Given the description of an element on the screen output the (x, y) to click on. 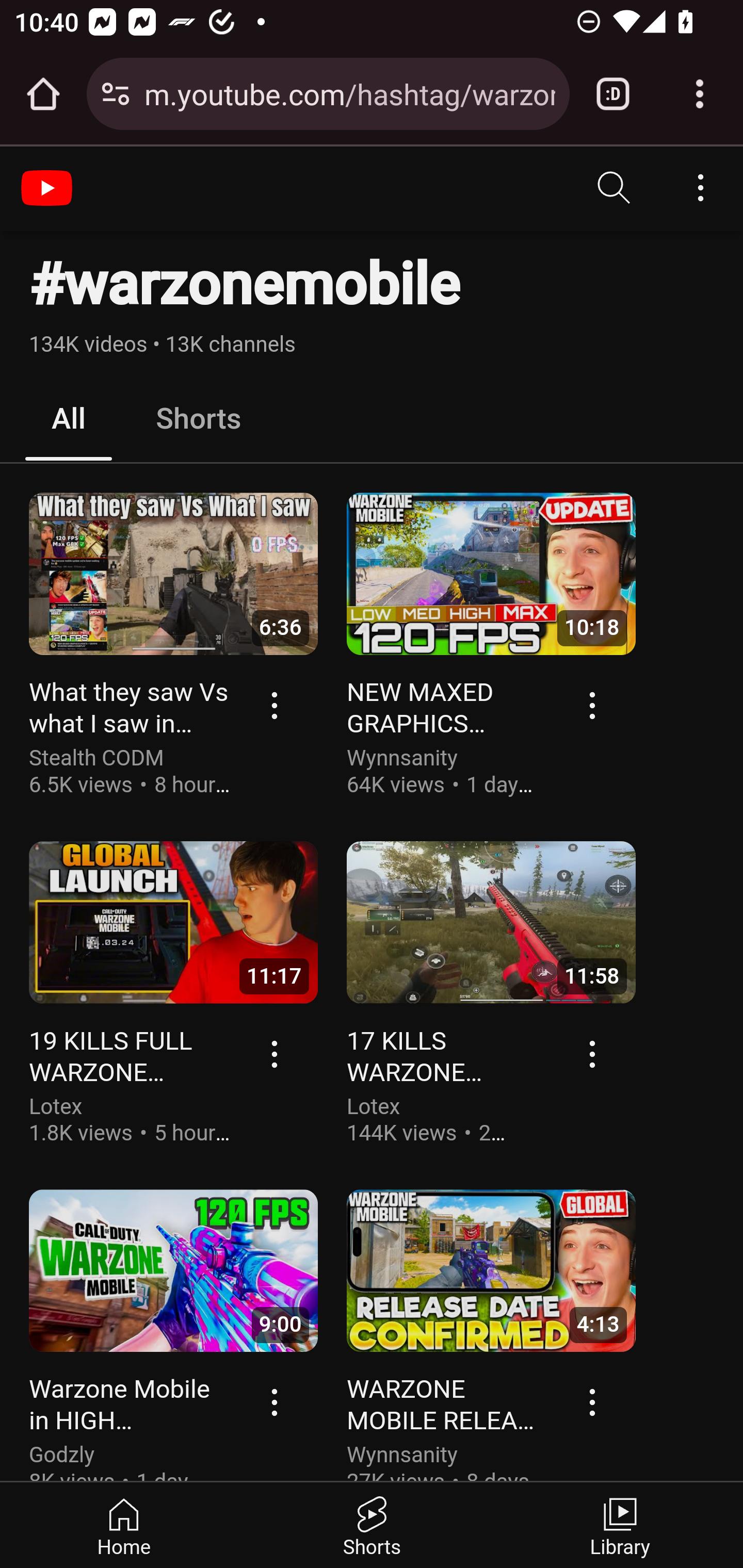
Open the home page (43, 93)
Connection is secure (115, 93)
Switch or close tabs (612, 93)
Customize and control Google Chrome (699, 93)
m.youtube.com/hashtag/warzonemobile (349, 92)
YouTube (48, 188)
Search YouTube (614, 188)
Account (700, 188)
All (69, 419)
Shorts (198, 419)
Action menu (275, 704)
Action menu (593, 704)
Action menu (275, 1052)
Action menu (593, 1052)
Action menu (275, 1401)
Action menu (593, 1401)
Home (124, 1524)
Shorts (371, 1524)
Library (618, 1524)
